Given the description of an element on the screen output the (x, y) to click on. 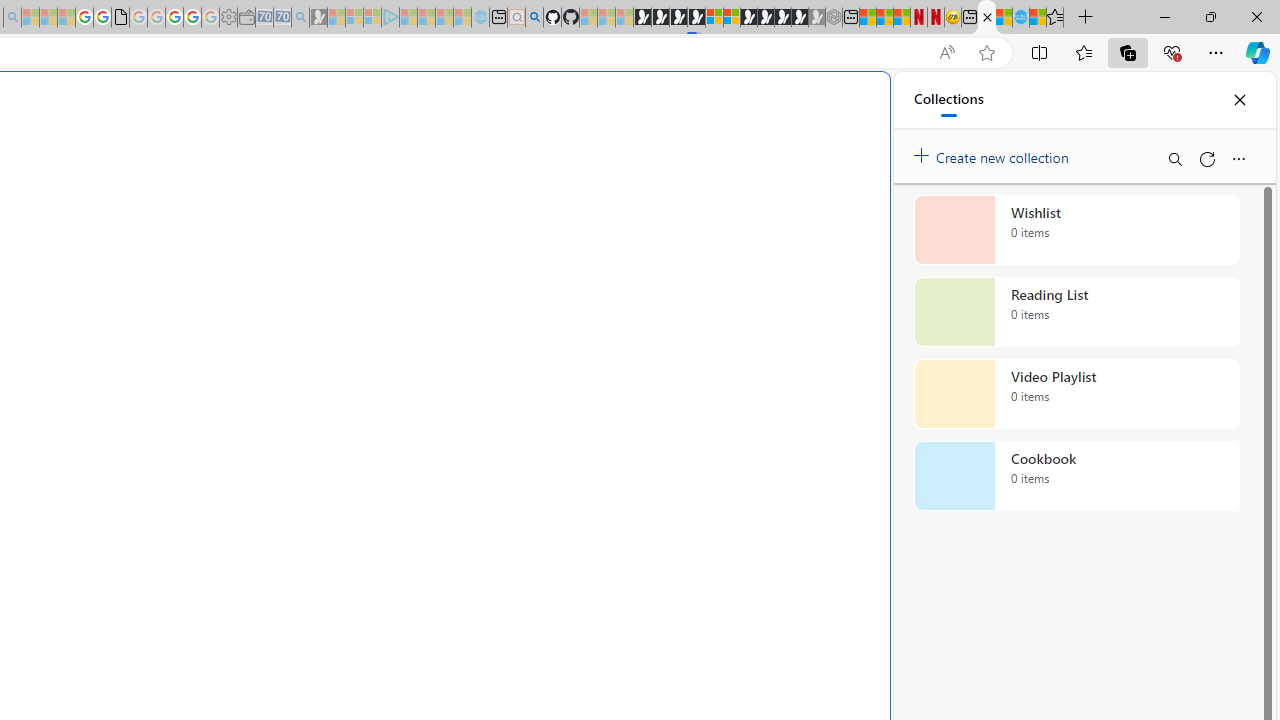
Wishlist collection, 0 items (1076, 229)
Create new collection (994, 153)
